Given the description of an element on the screen output the (x, y) to click on. 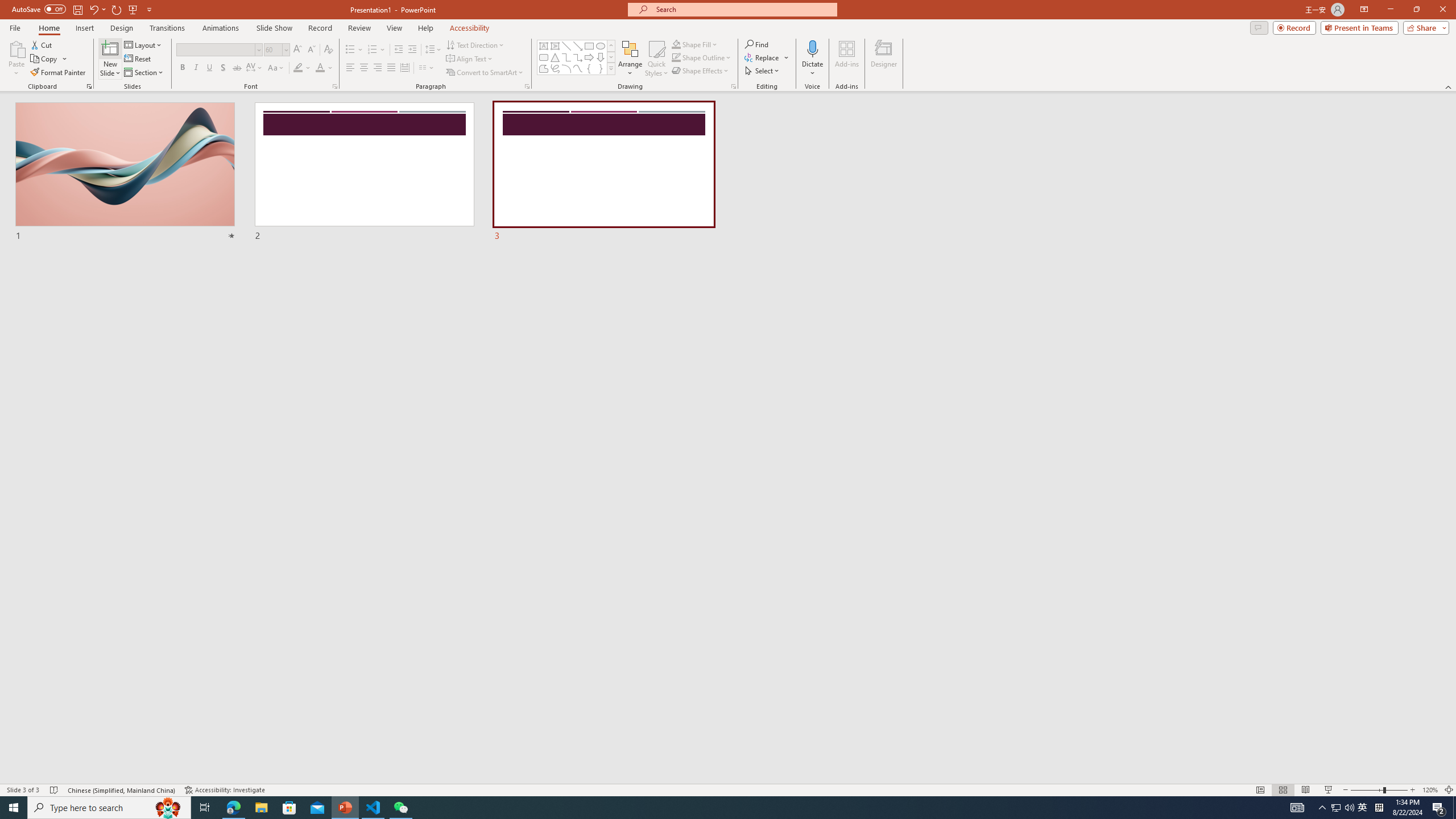
Zoom 120% (1430, 790)
